Given the description of an element on the screen output the (x, y) to click on. 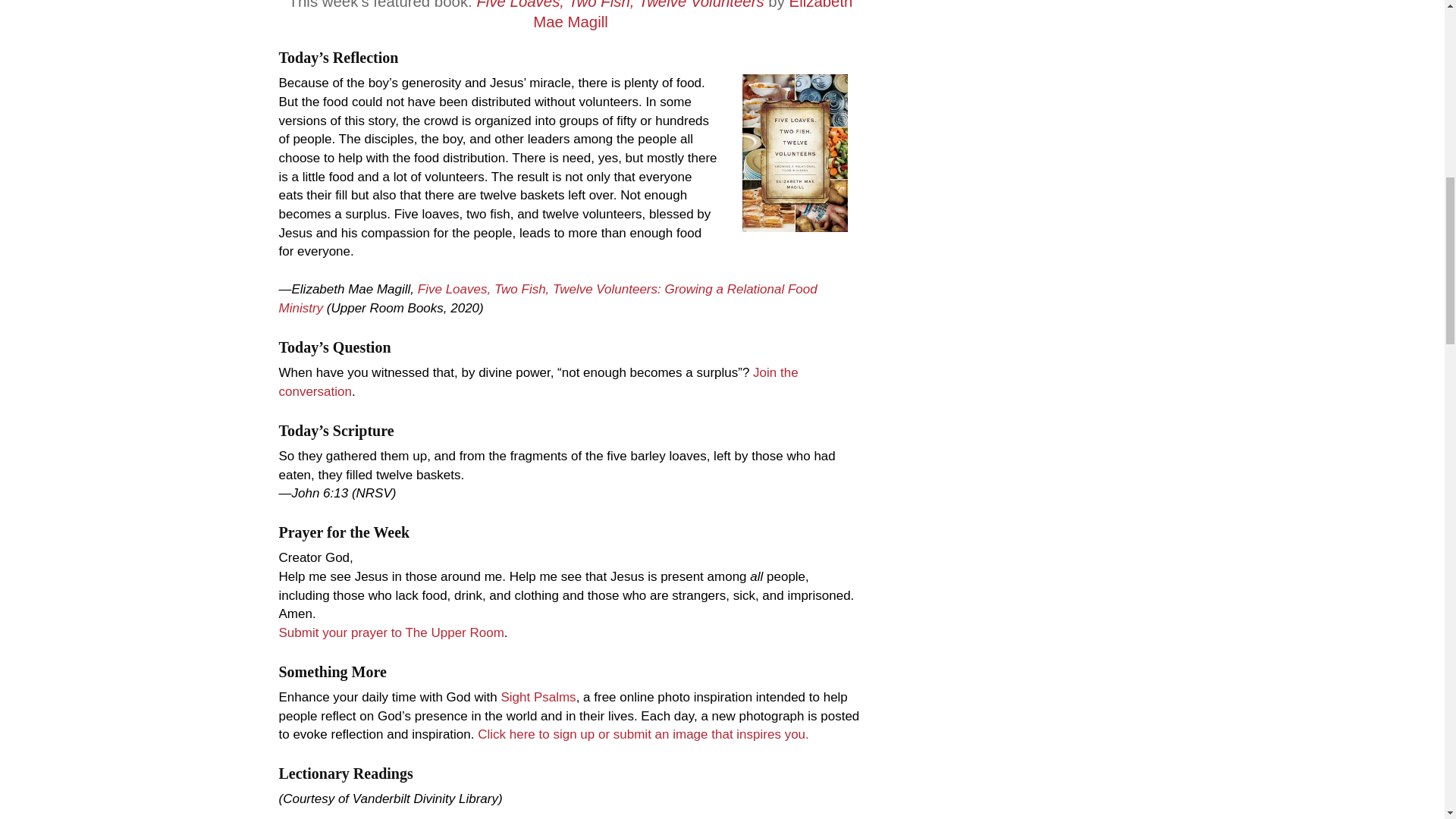
Submit your prayer to The Upper Room (391, 632)
Elizabeth Mae Magill (691, 15)
Sight Psalms (537, 697)
Join the conversation (538, 381)
Click here to sign up or submit an image that inspires you. (643, 734)
Five Loaves, Two Fish, Twelve Volunteers (619, 4)
